Given the description of an element on the screen output the (x, y) to click on. 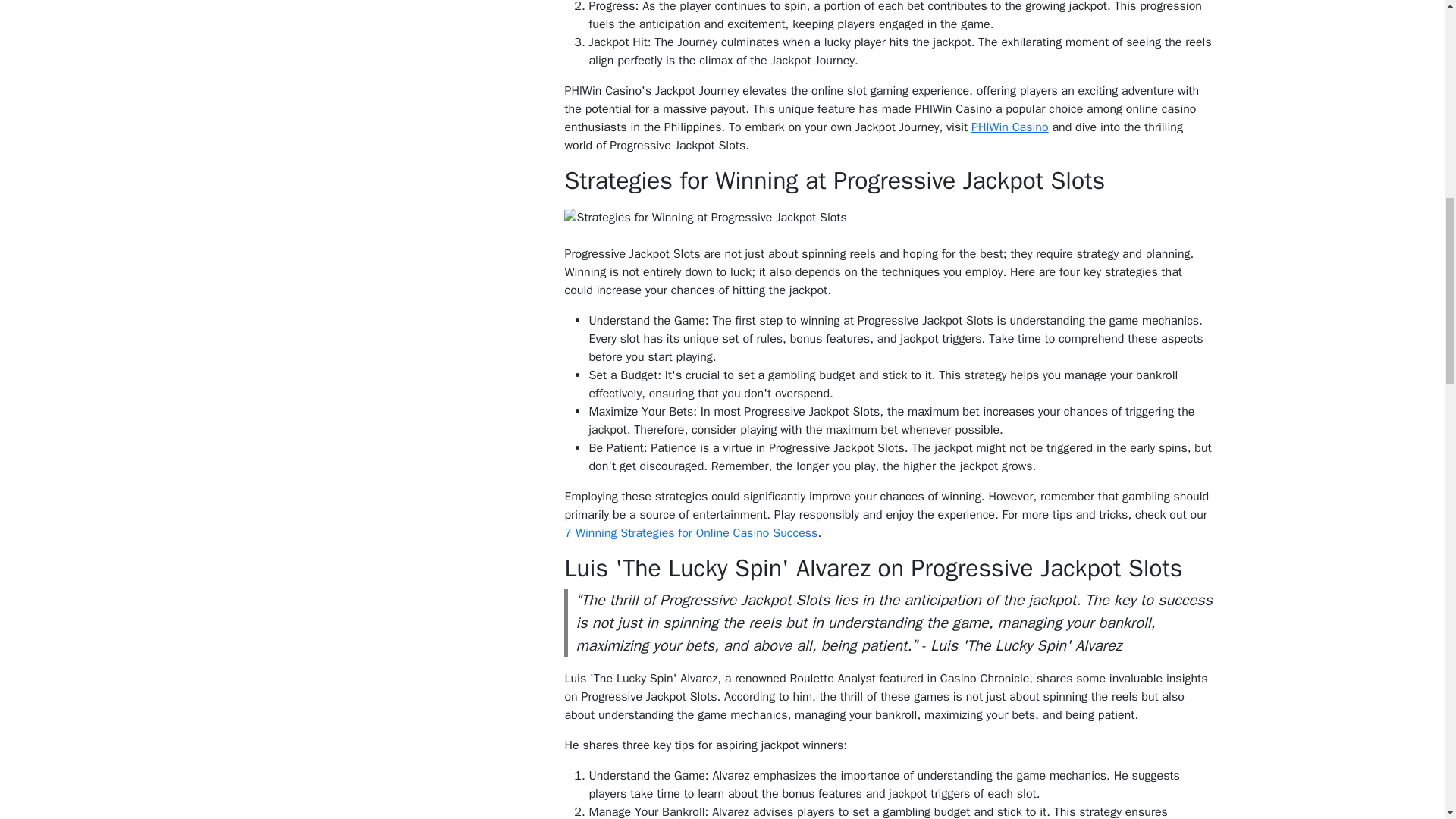
PHlWin Casino (1009, 127)
7 Winning Strategies for Online Casino Success (690, 532)
